Given the description of an element on the screen output the (x, y) to click on. 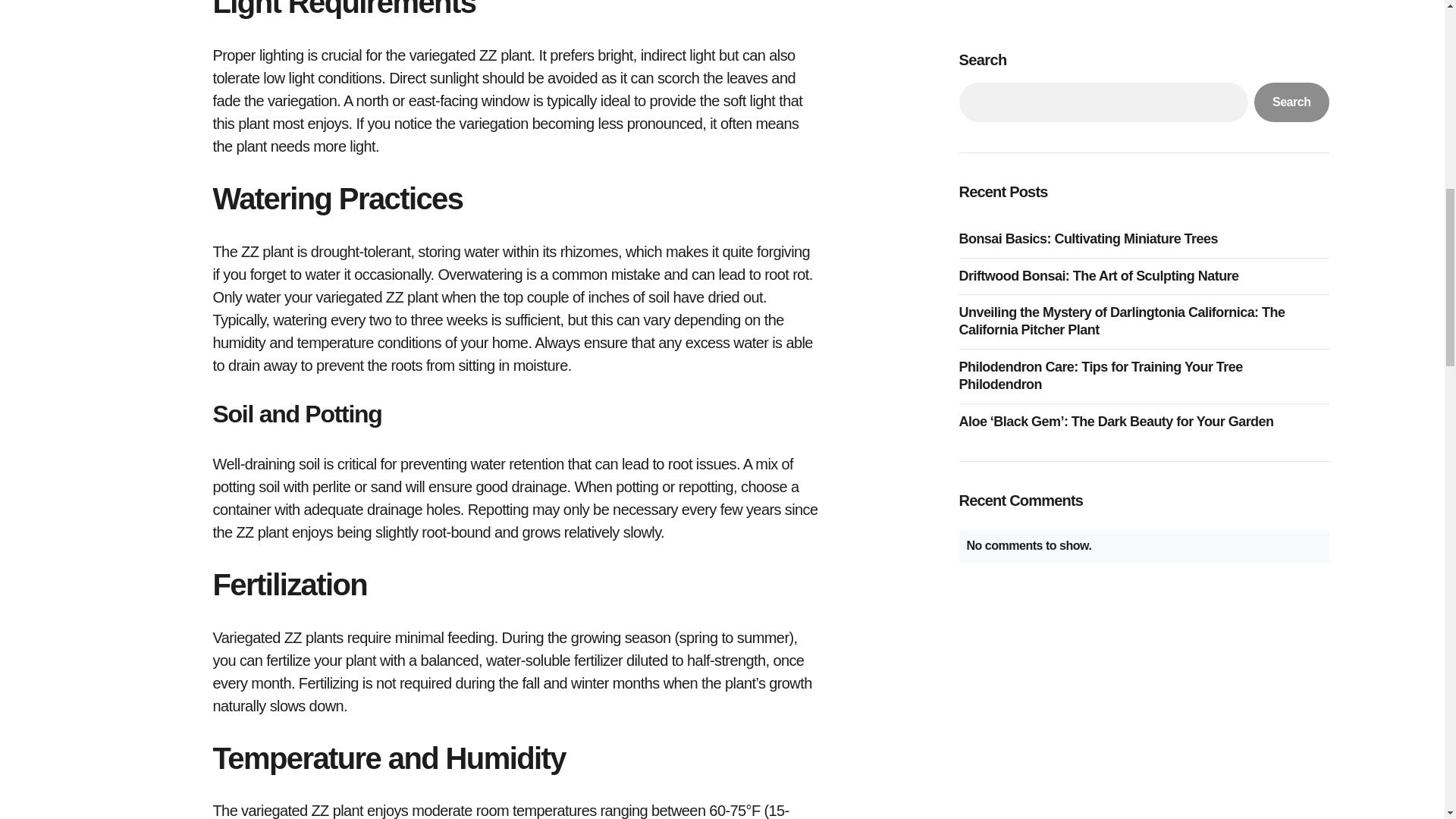
Driftwood Bonsai: The Art of Sculpting Nature (1102, 1)
Philodendron Care: Tips for Training Your Tree Philodendron (1142, 94)
